Given the description of an element on the screen output the (x, y) to click on. 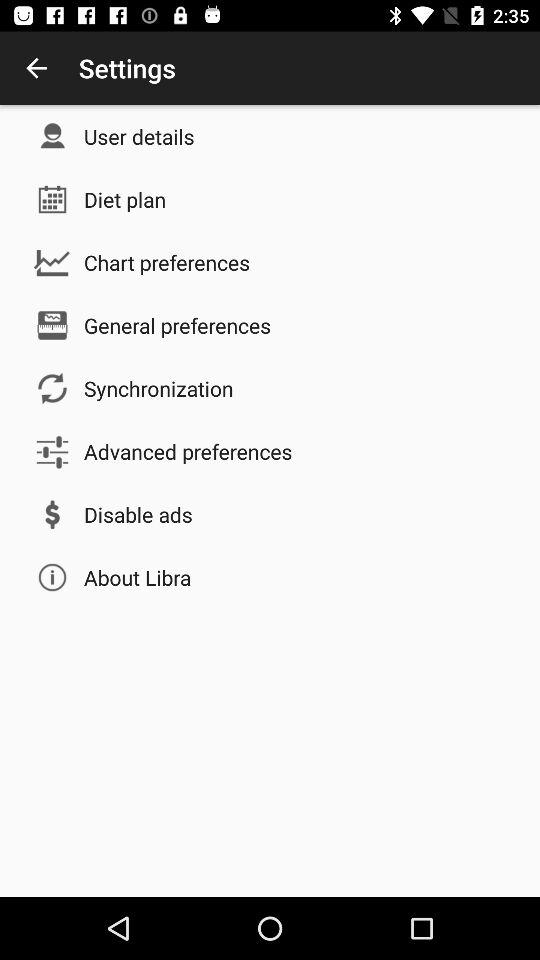
press chart preferences icon (167, 262)
